Given the description of an element on the screen output the (x, y) to click on. 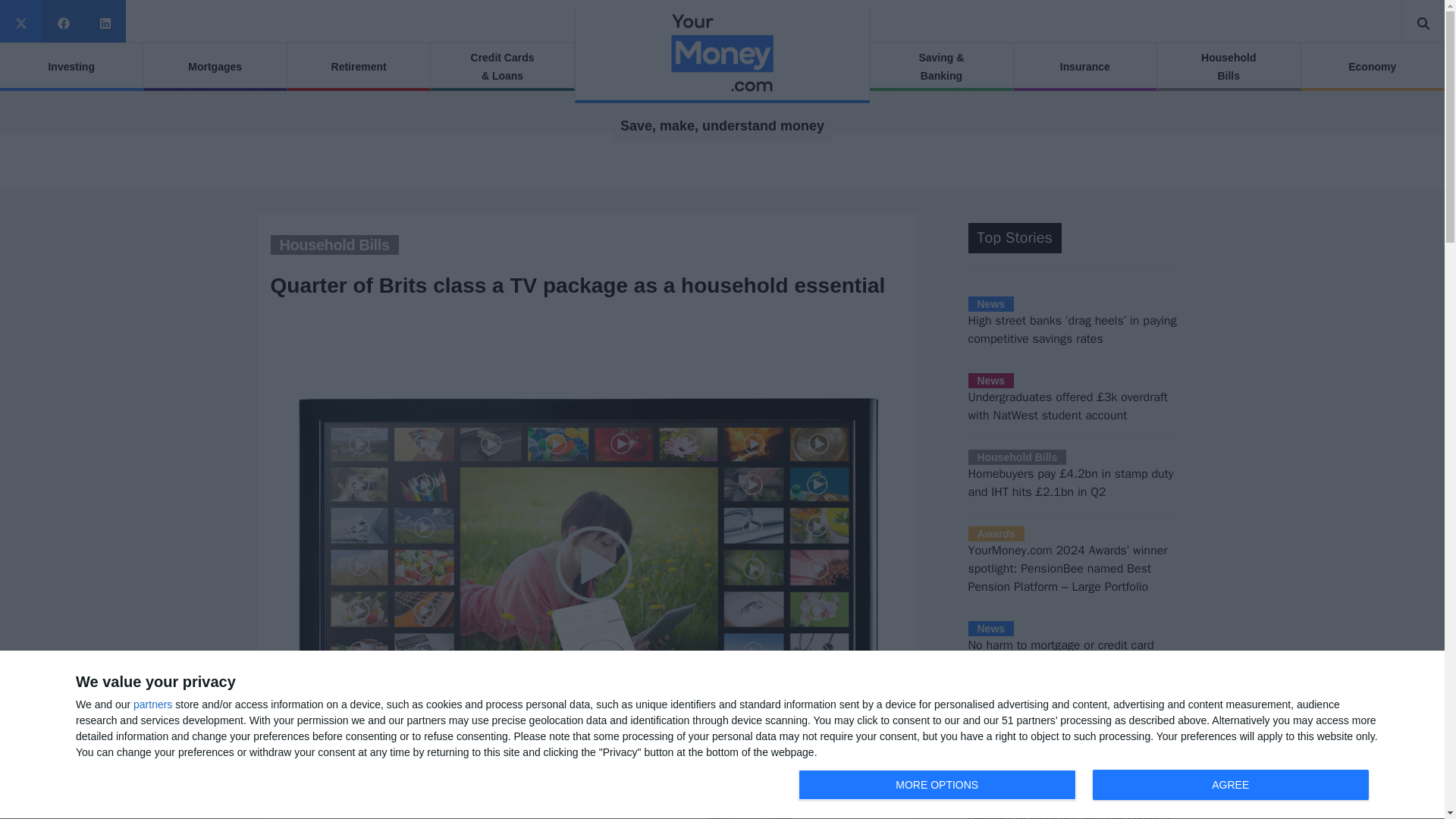
Household Bills (333, 244)
Investing (70, 66)
MORE OPTIONS (1228, 66)
Mortgages (936, 784)
Economy (214, 66)
Insurance (1372, 66)
Retirement (1085, 66)
AGREE (358, 66)
partners (1230, 784)
